Given the description of an element on the screen output the (x, y) to click on. 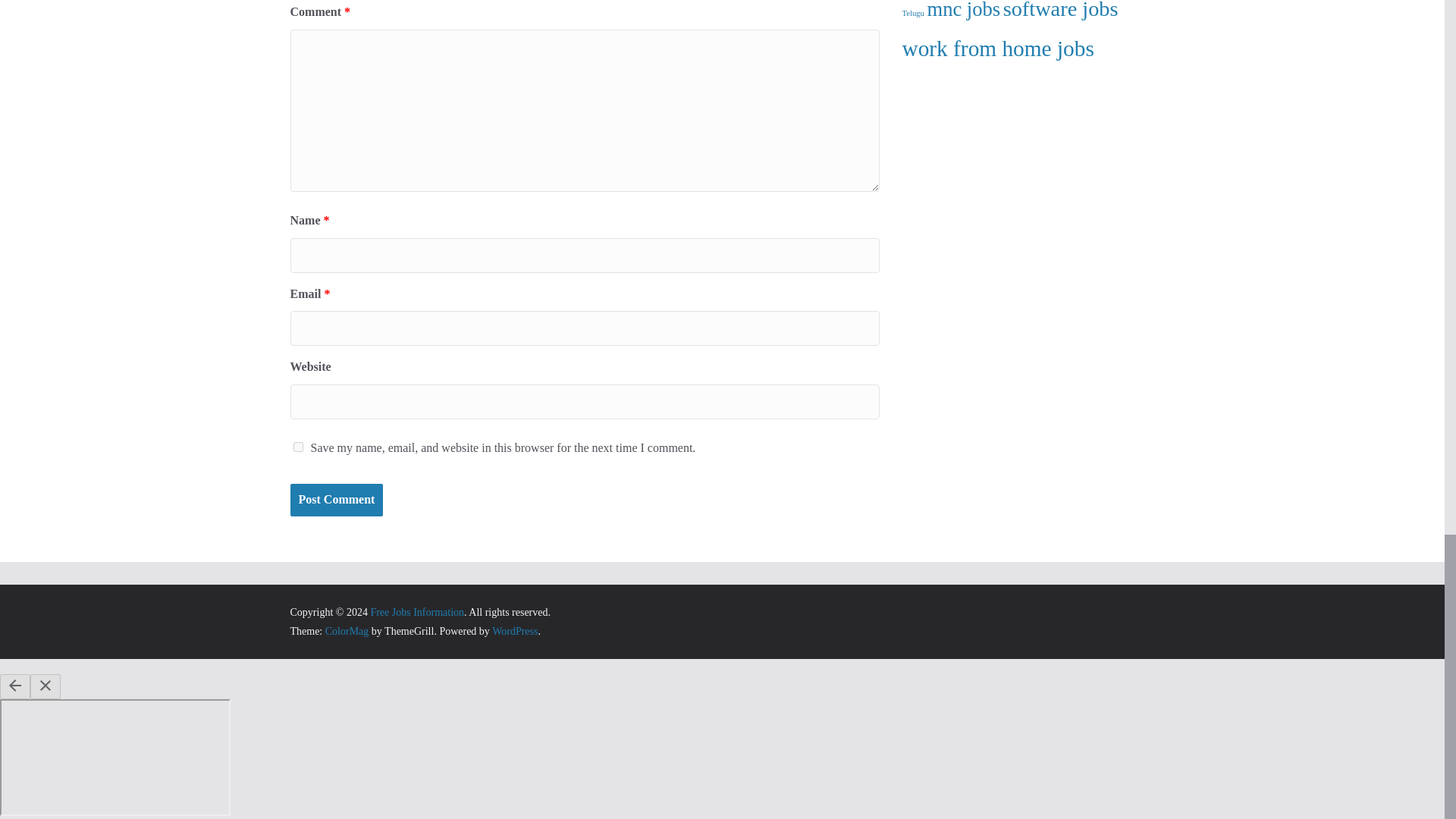
Post Comment (335, 500)
yes (297, 447)
Post Comment (335, 500)
